Given the description of an element on the screen output the (x, y) to click on. 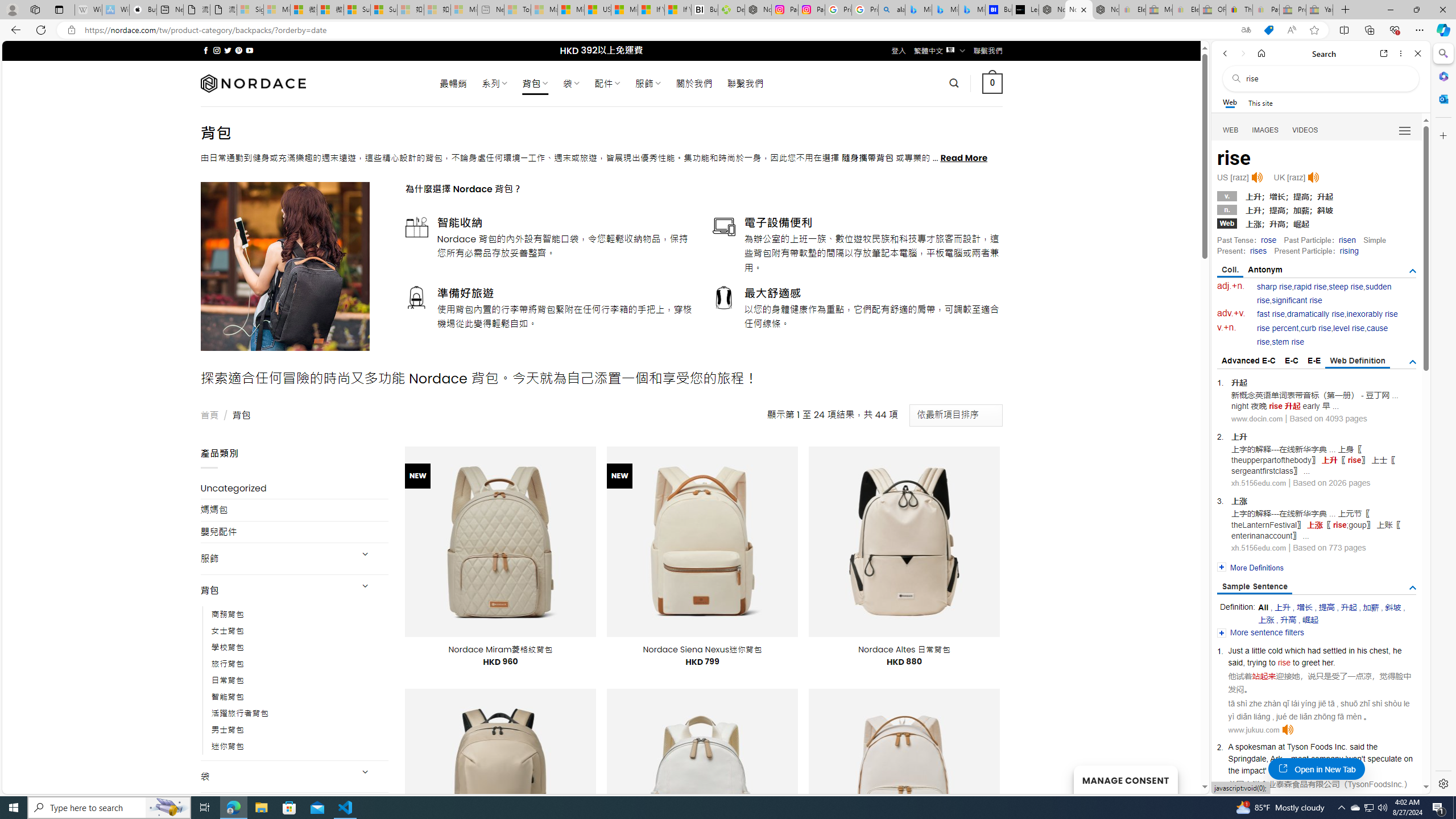
on (1407, 758)
Click to listen (1286, 729)
Threats and offensive language policy | eBay (1239, 9)
he (1397, 650)
Follow on Instagram (216, 50)
